Given the description of an element on the screen output the (x, y) to click on. 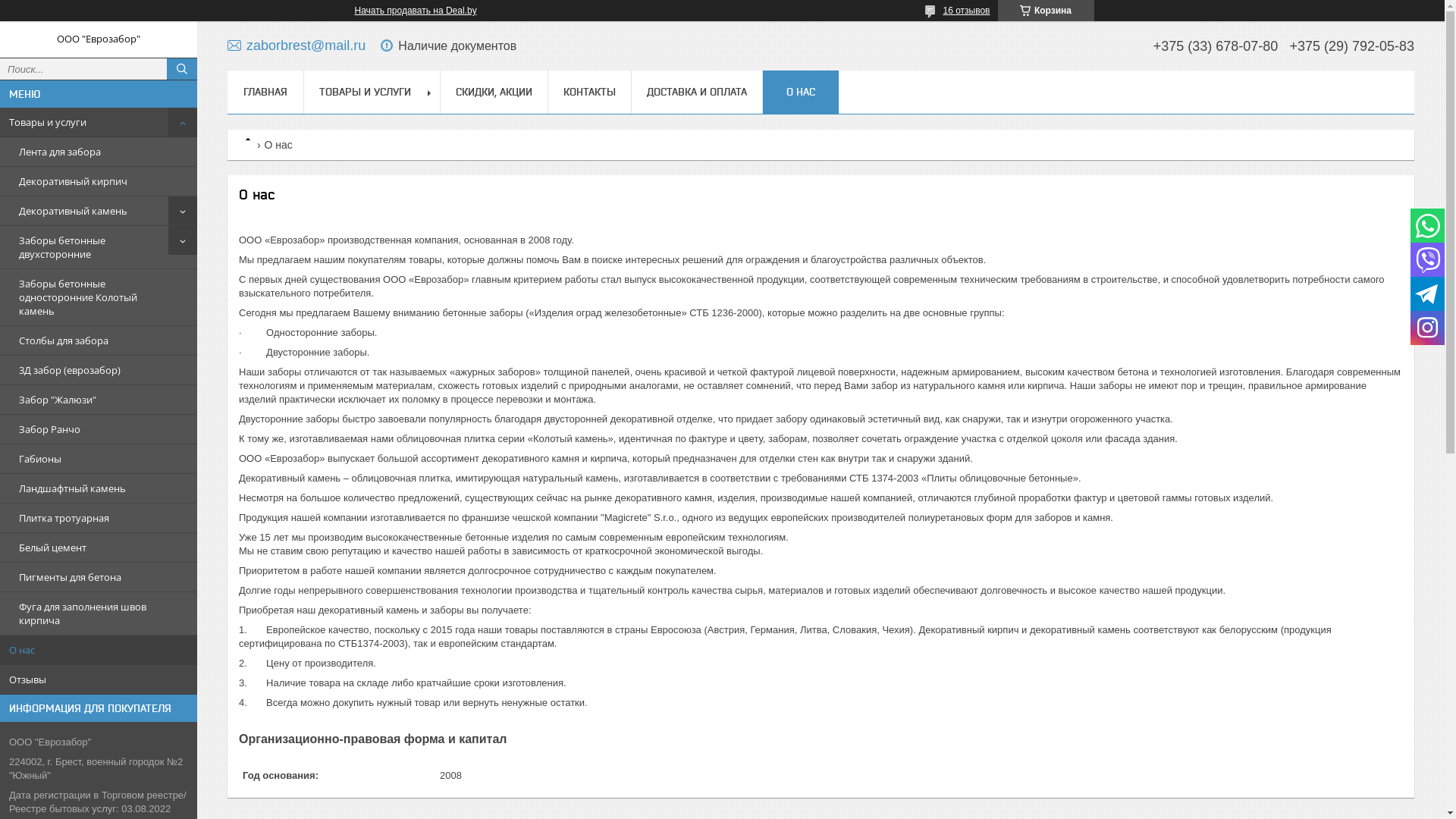
zaborbrest@mail.ru Element type: text (296, 45)
